Given the description of an element on the screen output the (x, y) to click on. 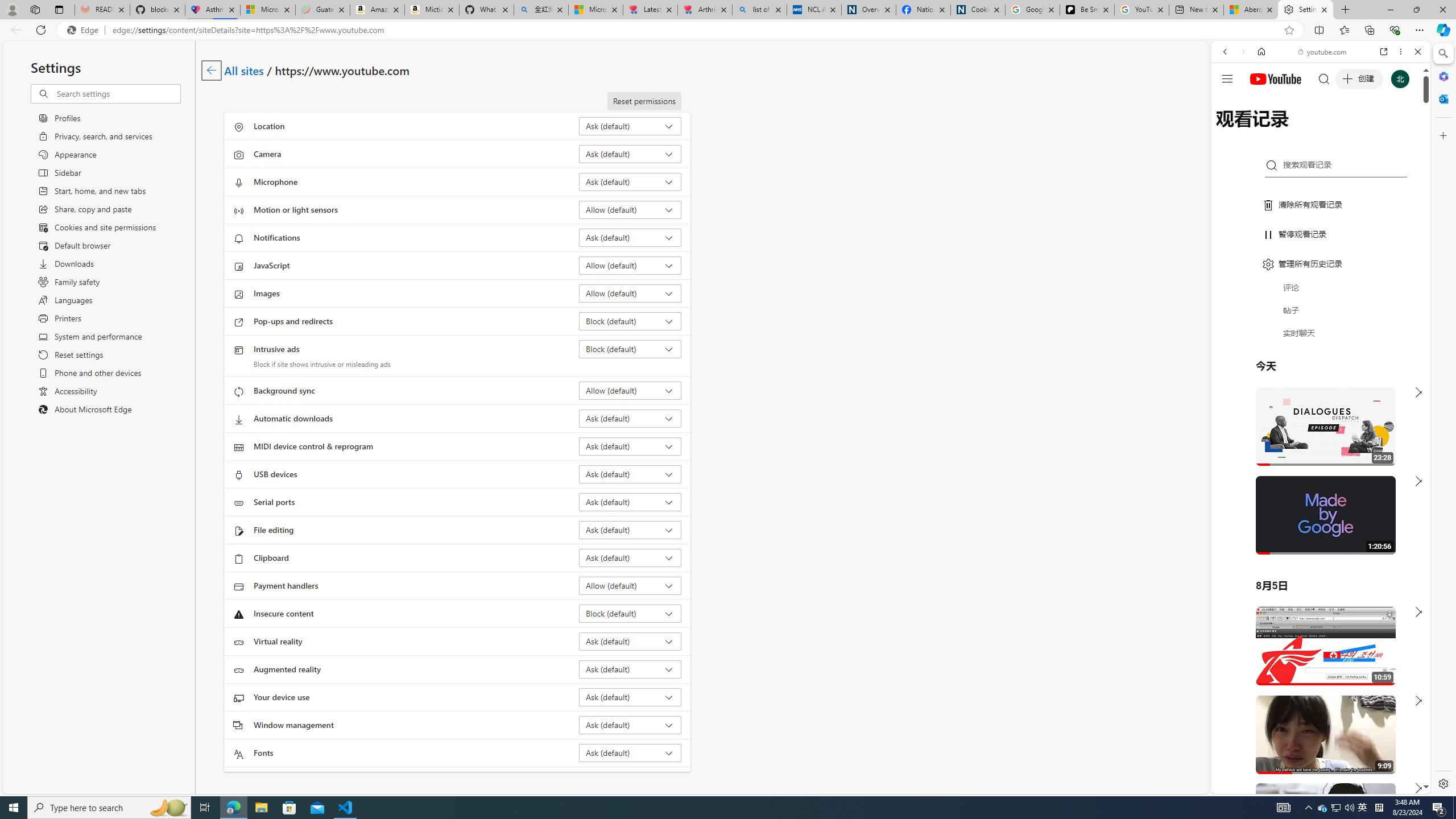
Be Smart | creating Science videos | Patreon (1087, 9)
Cookies (978, 9)
Automatic downloads Ask (default) (630, 418)
Click to scroll right (1407, 456)
